Given the description of an element on the screen output the (x, y) to click on. 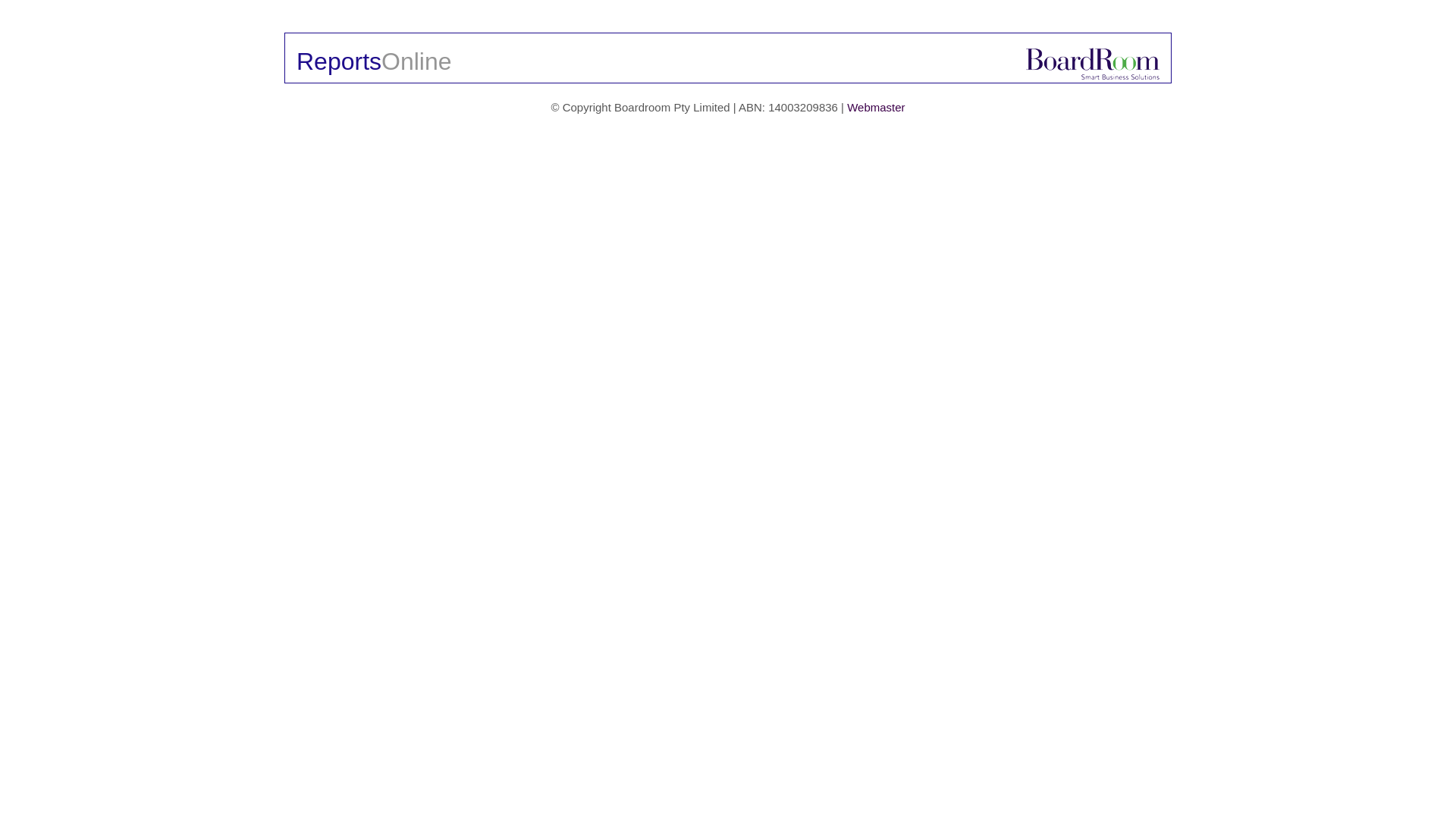
Webmaster Element type: text (875, 106)
Logo Element type: hover (1092, 63)
